Given the description of an element on the screen output the (x, y) to click on. 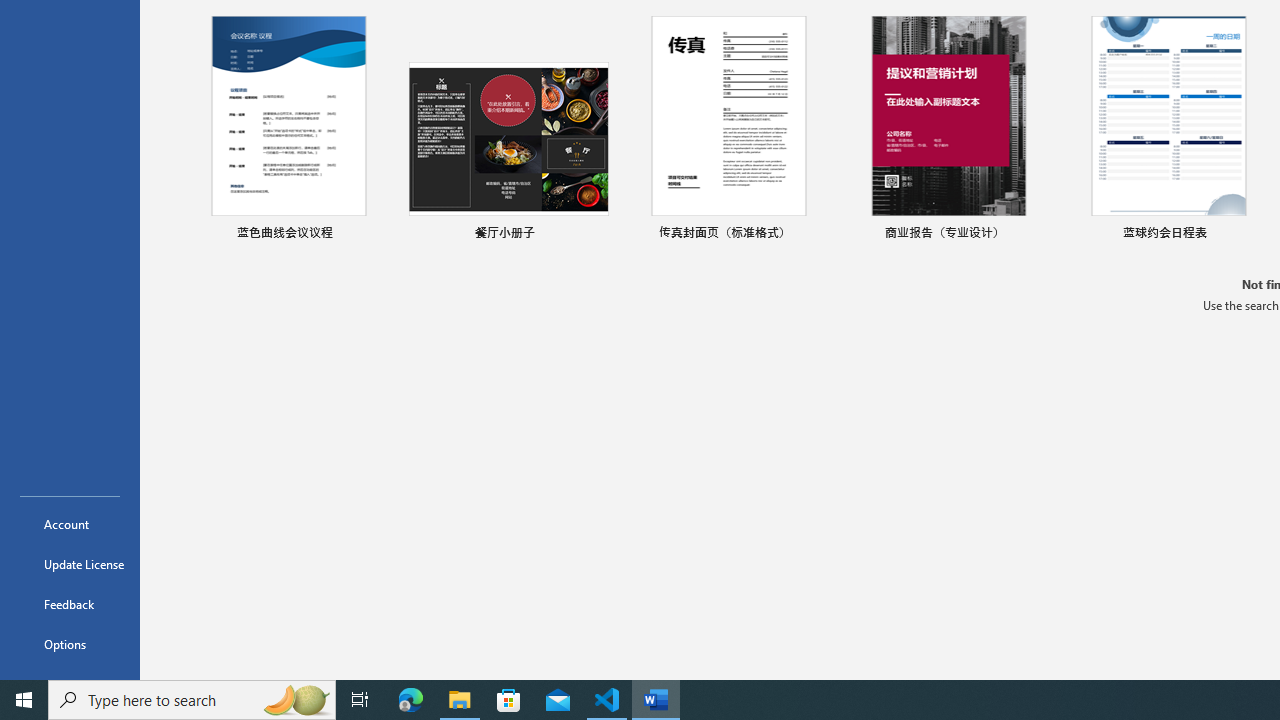
Pin to list (1255, 234)
Update License (69, 563)
Options (69, 643)
Feedback (69, 603)
Account (69, 523)
